Given the description of an element on the screen output the (x, y) to click on. 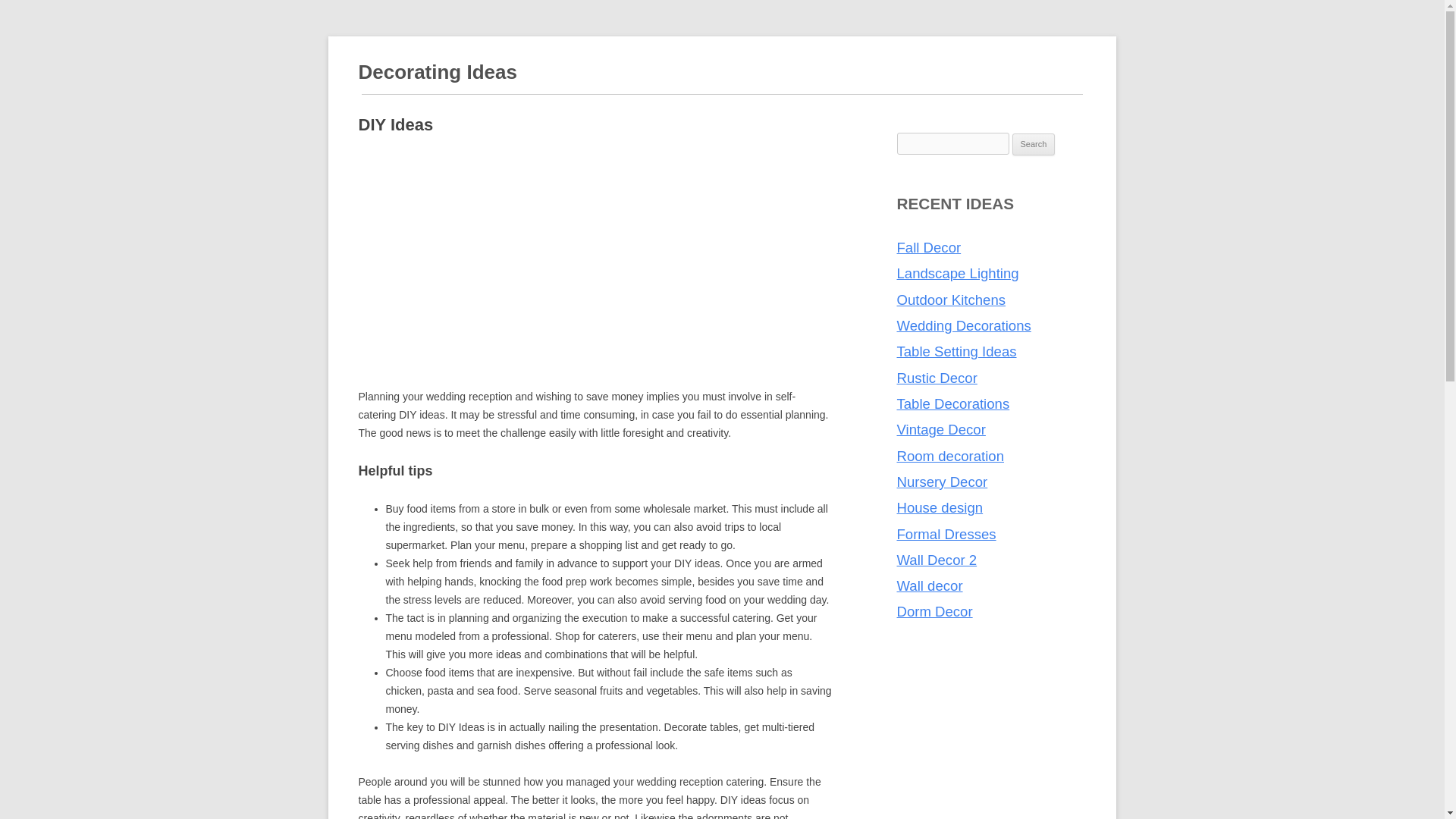
Wall decor (929, 585)
Table Decorations (952, 403)
Advertisement (594, 252)
Wall Decor 2 (936, 560)
Decorating Ideas (437, 72)
House design (939, 507)
Search (1033, 144)
Search (1033, 144)
Landscape Lighting (956, 273)
Table Setting Ideas (956, 351)
